Given the description of an element on the screen output the (x, y) to click on. 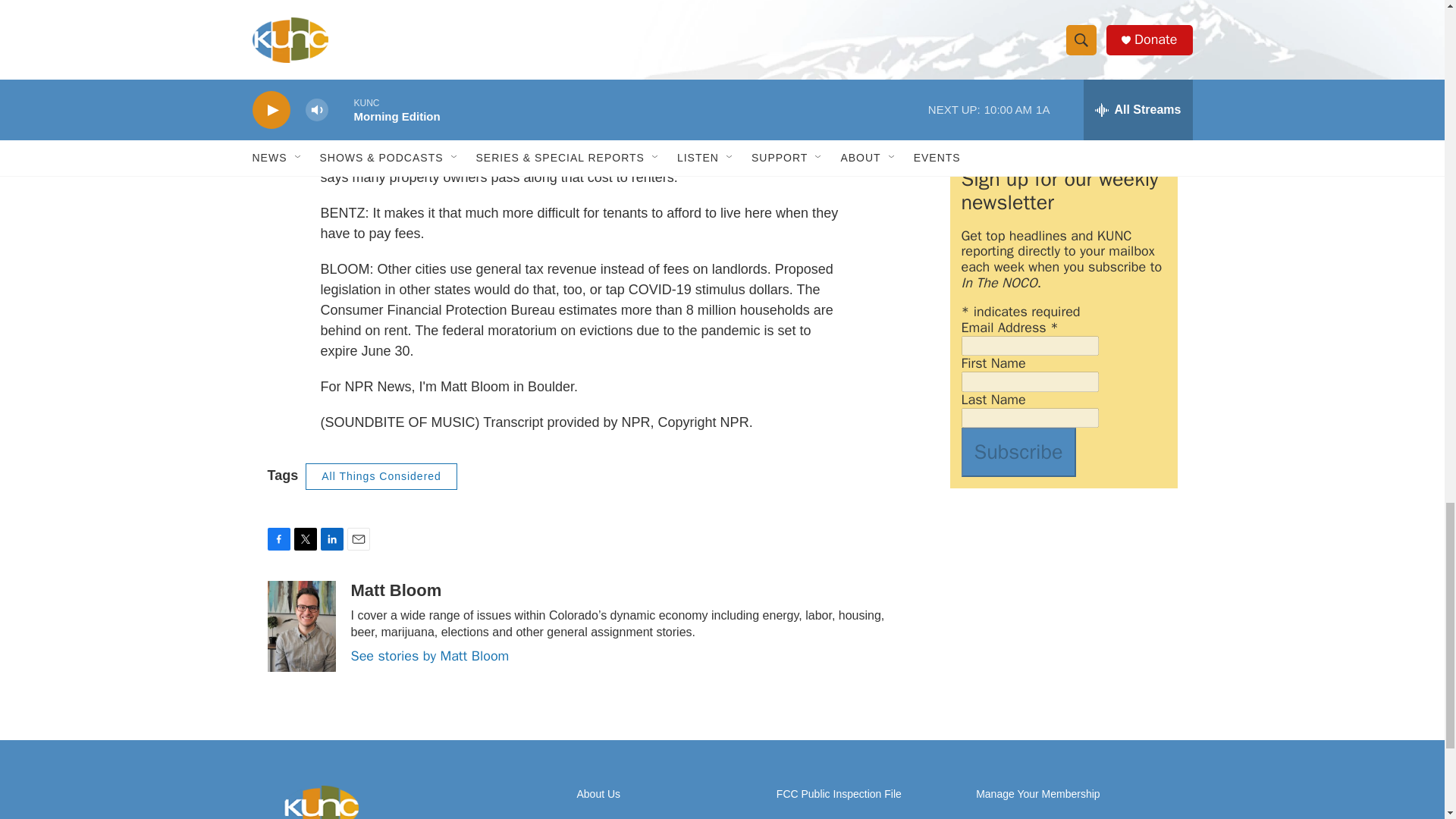
Subscribe (1017, 451)
3rd party ad content (1062, 16)
